Given the description of an element on the screen output the (x, y) to click on. 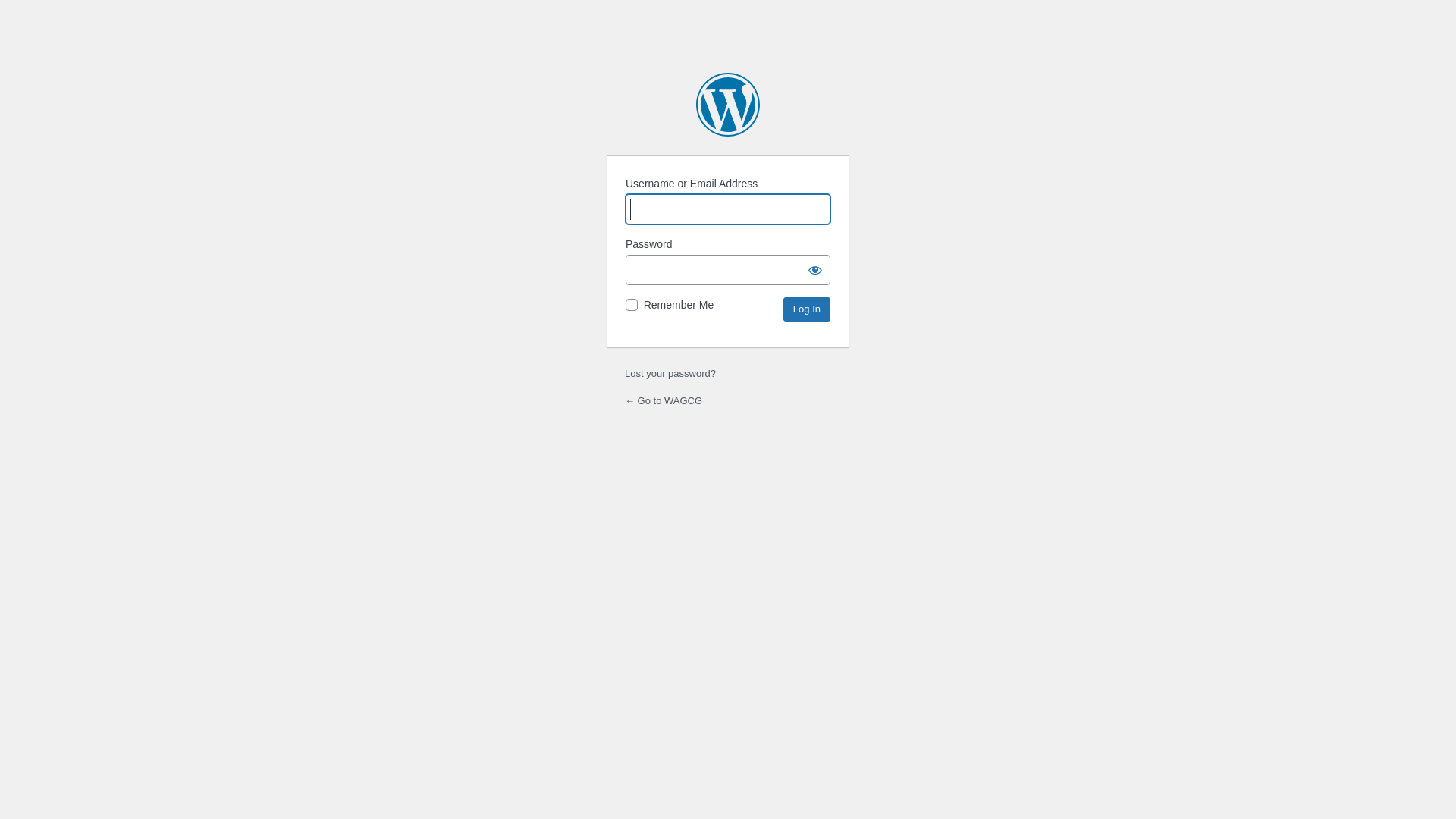
Log In Element type: text (806, 309)
Powered by WordPress Element type: text (727, 104)
Lost your password? Element type: text (669, 373)
